Given the description of an element on the screen output the (x, y) to click on. 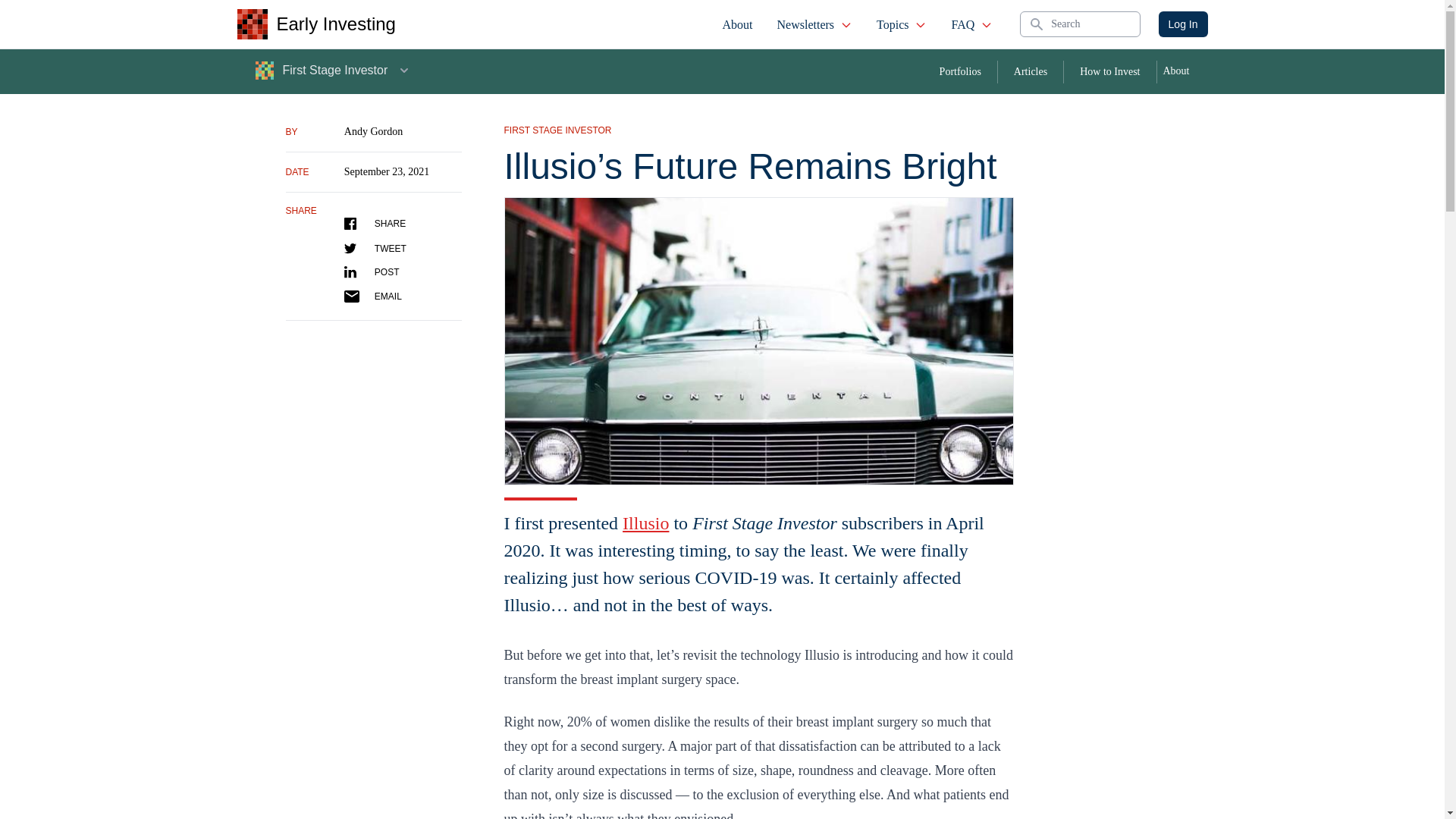
FAQ (971, 24)
Early Investing (314, 24)
First Stage Investor (332, 70)
Newsletters (814, 24)
Log In (1183, 23)
Topics (901, 24)
